Given the description of an element on the screen output the (x, y) to click on. 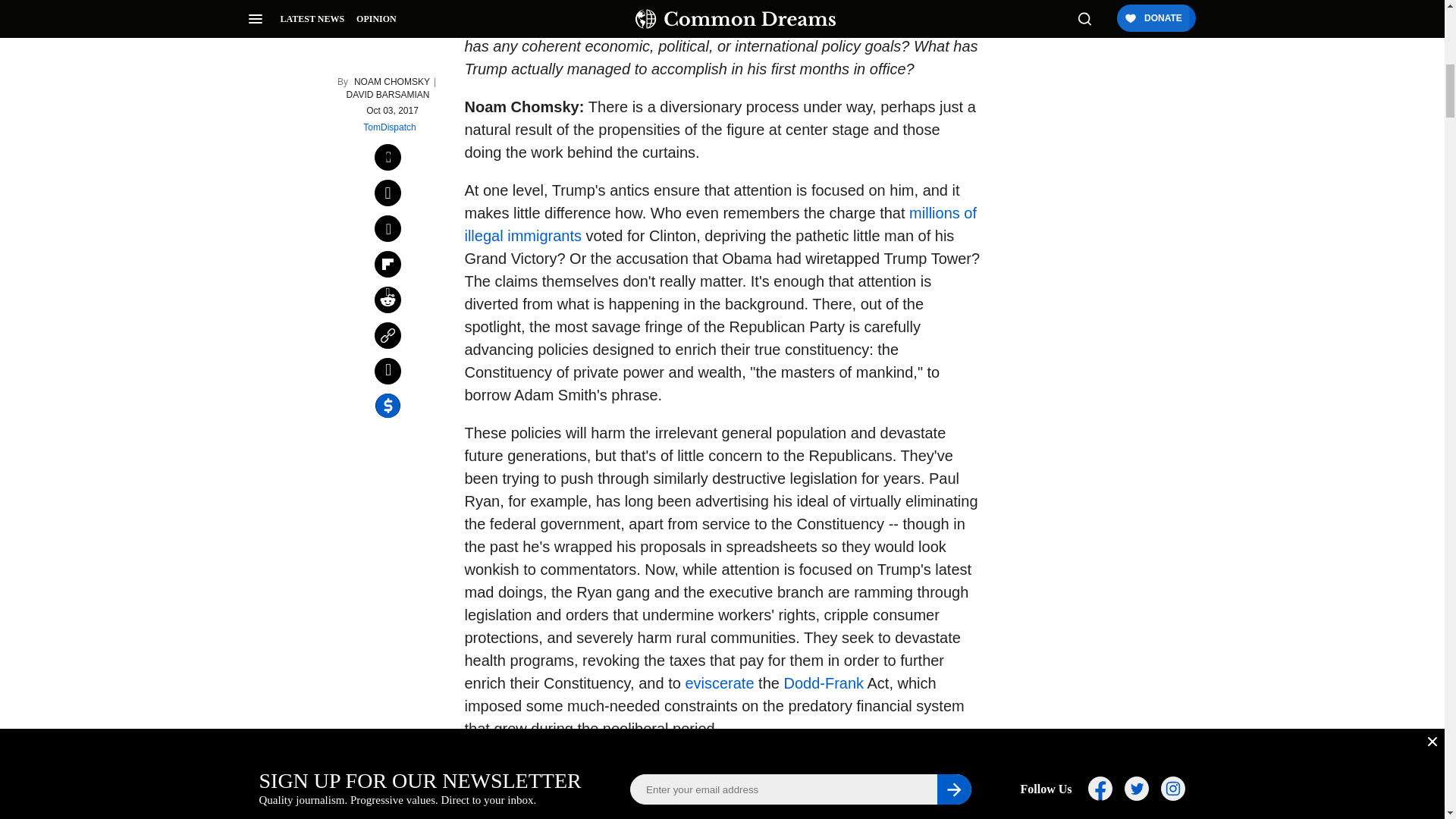
Copy this link to clipboard (387, 172)
Donate Button (1051, 207)
